Given the description of an element on the screen output the (x, y) to click on. 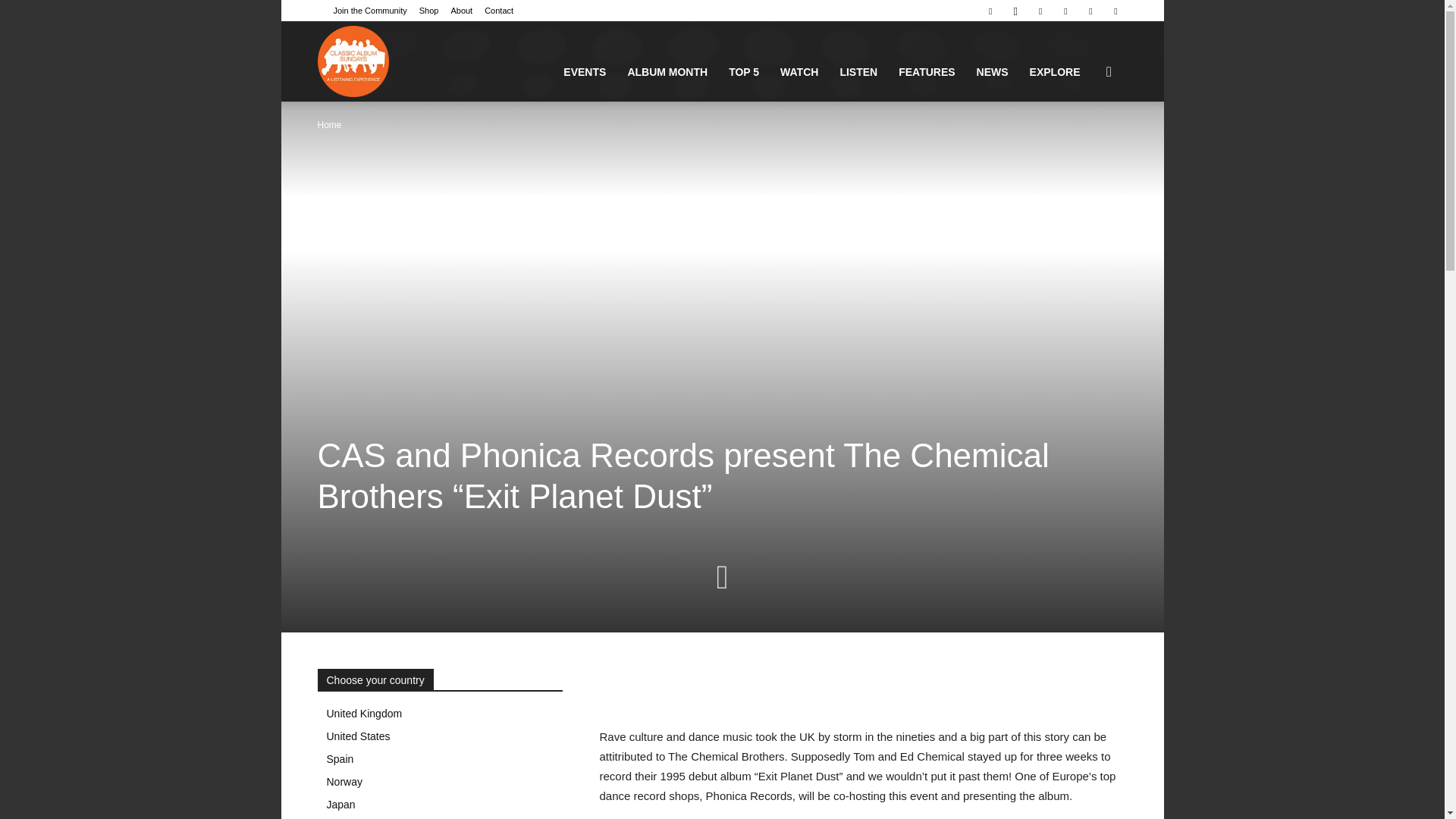
Twitter (1090, 10)
Spotify (1065, 10)
Pinterest (1040, 10)
Youtube (1114, 10)
Instagram (1015, 10)
Shop (429, 10)
Join the Community (370, 10)
Facebook (989, 10)
About (460, 10)
